Given the description of an element on the screen output the (x, y) to click on. 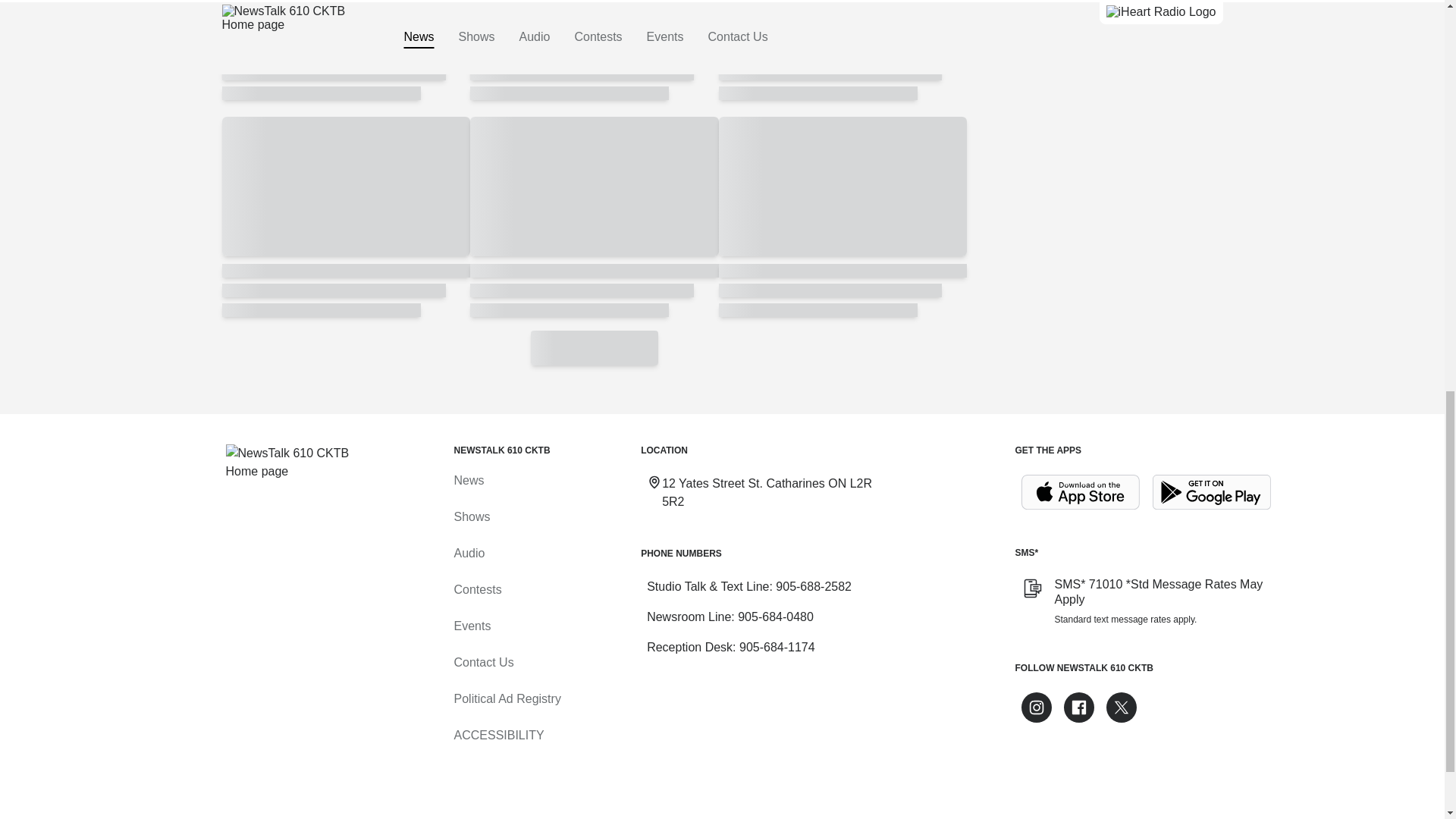
Accessibility (497, 735)
News (467, 480)
Political Ad Registry (506, 698)
Get it on Google Play (1212, 492)
Contact Us (482, 662)
905-684-0480 (775, 616)
Download on the App Store (1080, 492)
905-684-1174 (777, 646)
Contests (476, 589)
ACCESSIBILITY (497, 735)
Audio (468, 553)
905-688-2582 (813, 585)
Events (471, 625)
Shows (470, 516)
